Given the description of an element on the screen output the (x, y) to click on. 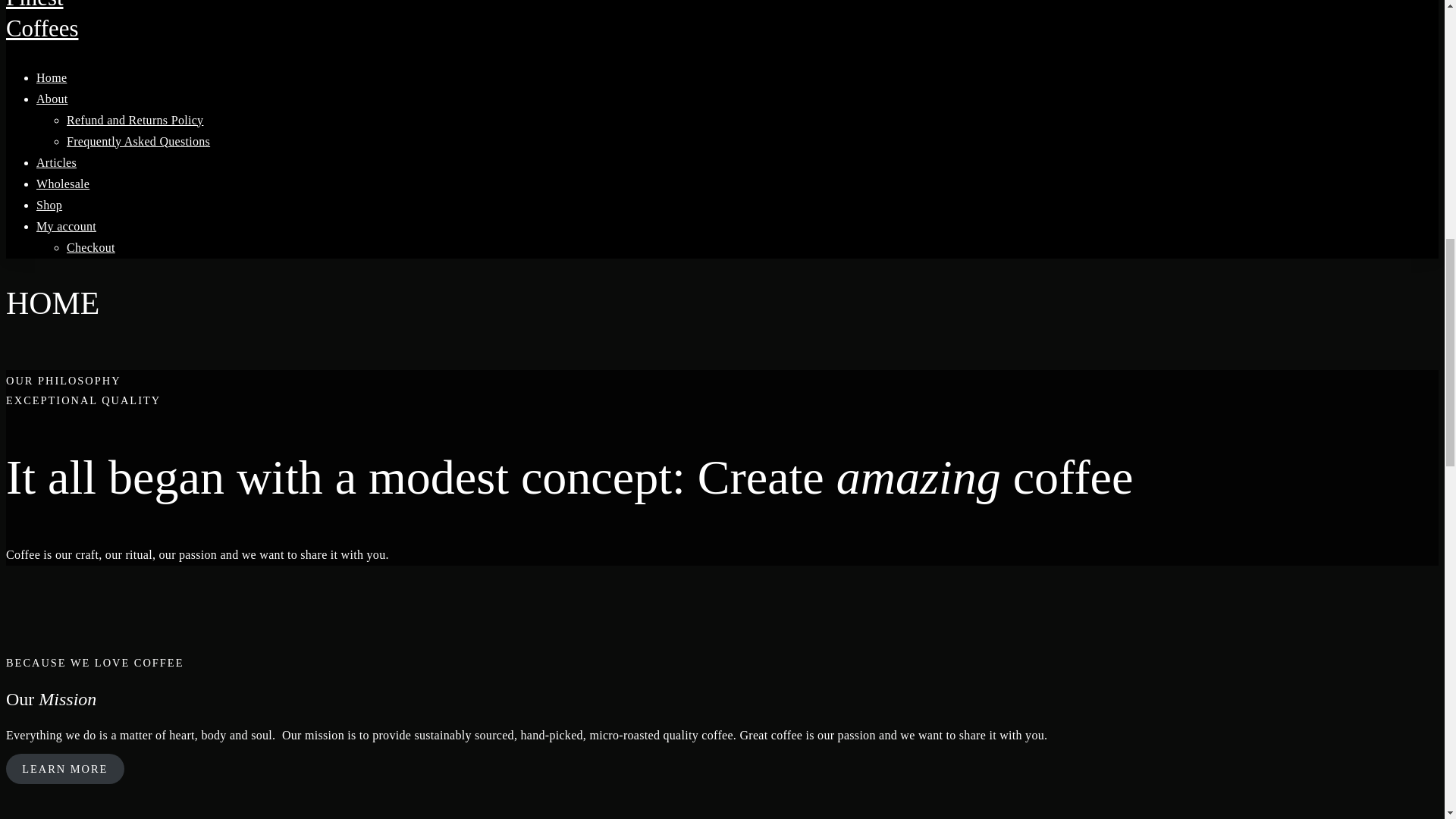
Refund and Returns Policy (134, 119)
My account (66, 226)
Wholesale (62, 183)
Home (51, 77)
Shop (49, 205)
LEARN MORE (64, 767)
About (52, 98)
Checkout (90, 246)
Frequently Asked Questions (137, 141)
Articles (56, 162)
